Given the description of an element on the screen output the (x, y) to click on. 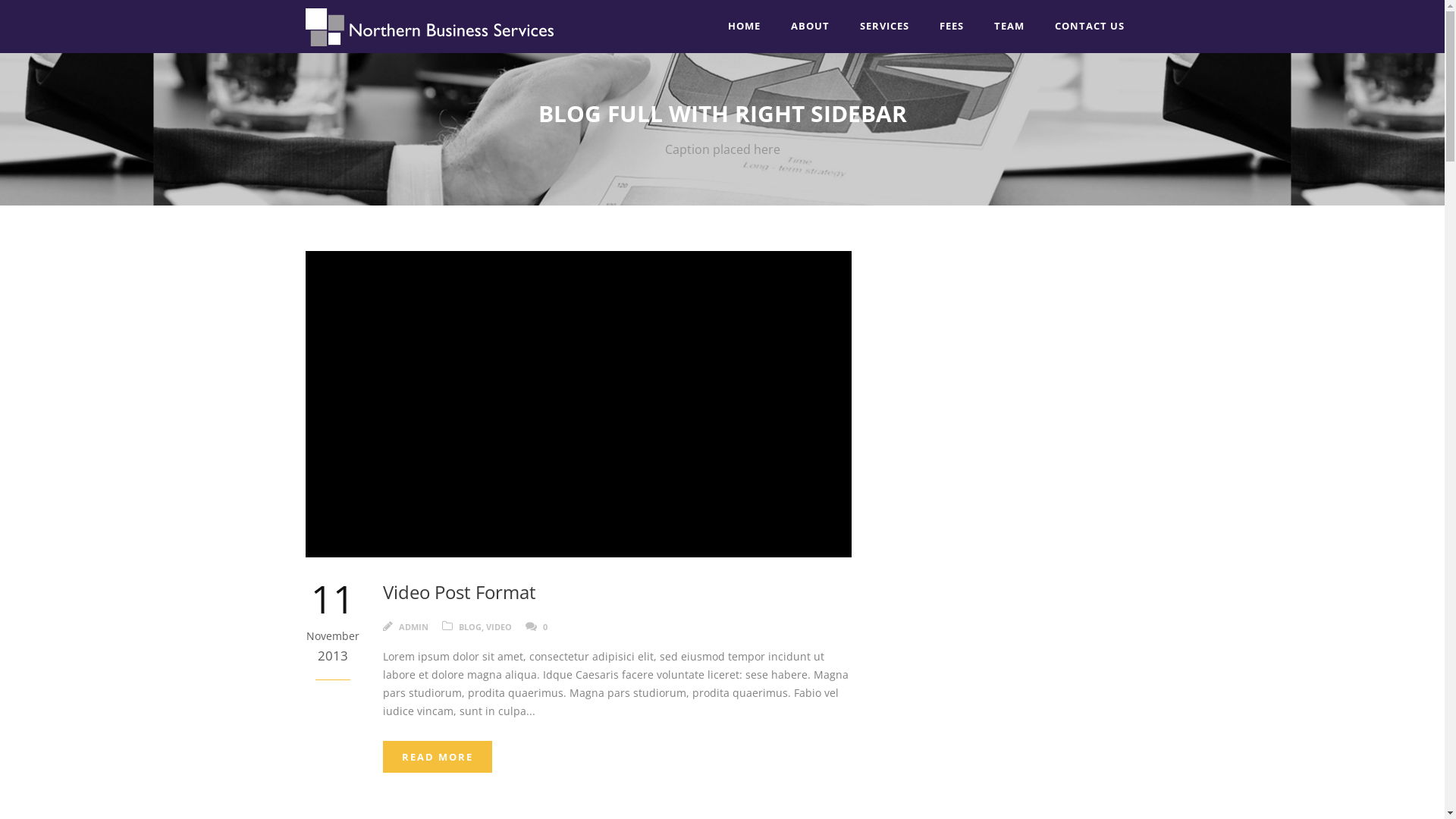
ADMIN Element type: text (413, 625)
TEAM Element type: text (1008, 25)
ABOUT Element type: text (809, 25)
SERVICES Element type: text (884, 25)
READ MORE Element type: text (436, 756)
0 Element type: text (544, 625)
CONTACT US Element type: text (1088, 25)
VIDEO Element type: text (498, 625)
BLOG Element type: text (469, 625)
Video Post Format Element type: text (458, 591)
HOME Element type: text (743, 25)
FEES Element type: text (950, 25)
